Given the description of an element on the screen output the (x, y) to click on. 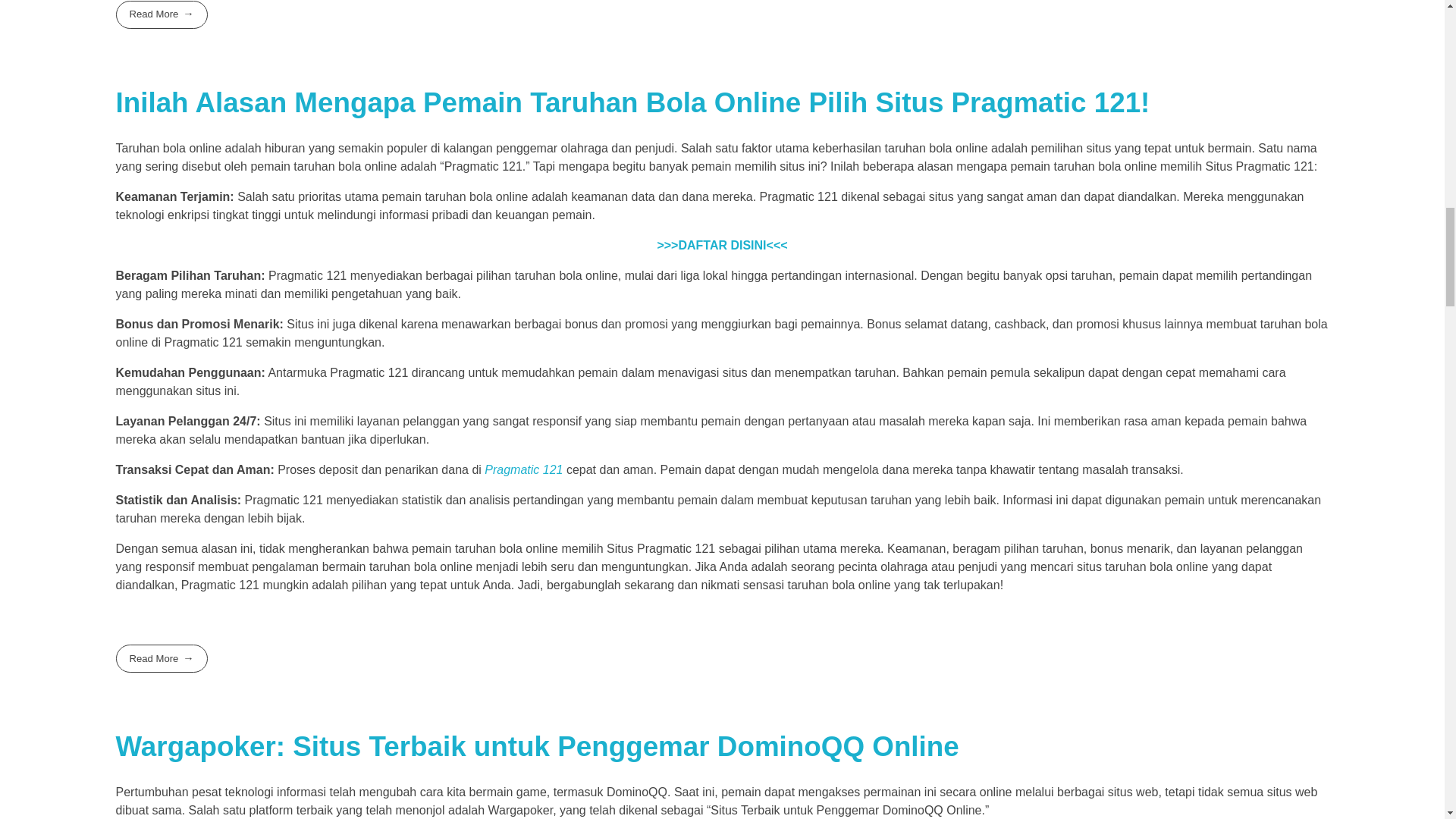
Pragmatic 121 (523, 469)
Wargapoker: Situs Terbaik untuk Penggemar DominoQQ Online (536, 746)
Read More (160, 658)
Read More (160, 14)
